Given the description of an element on the screen output the (x, y) to click on. 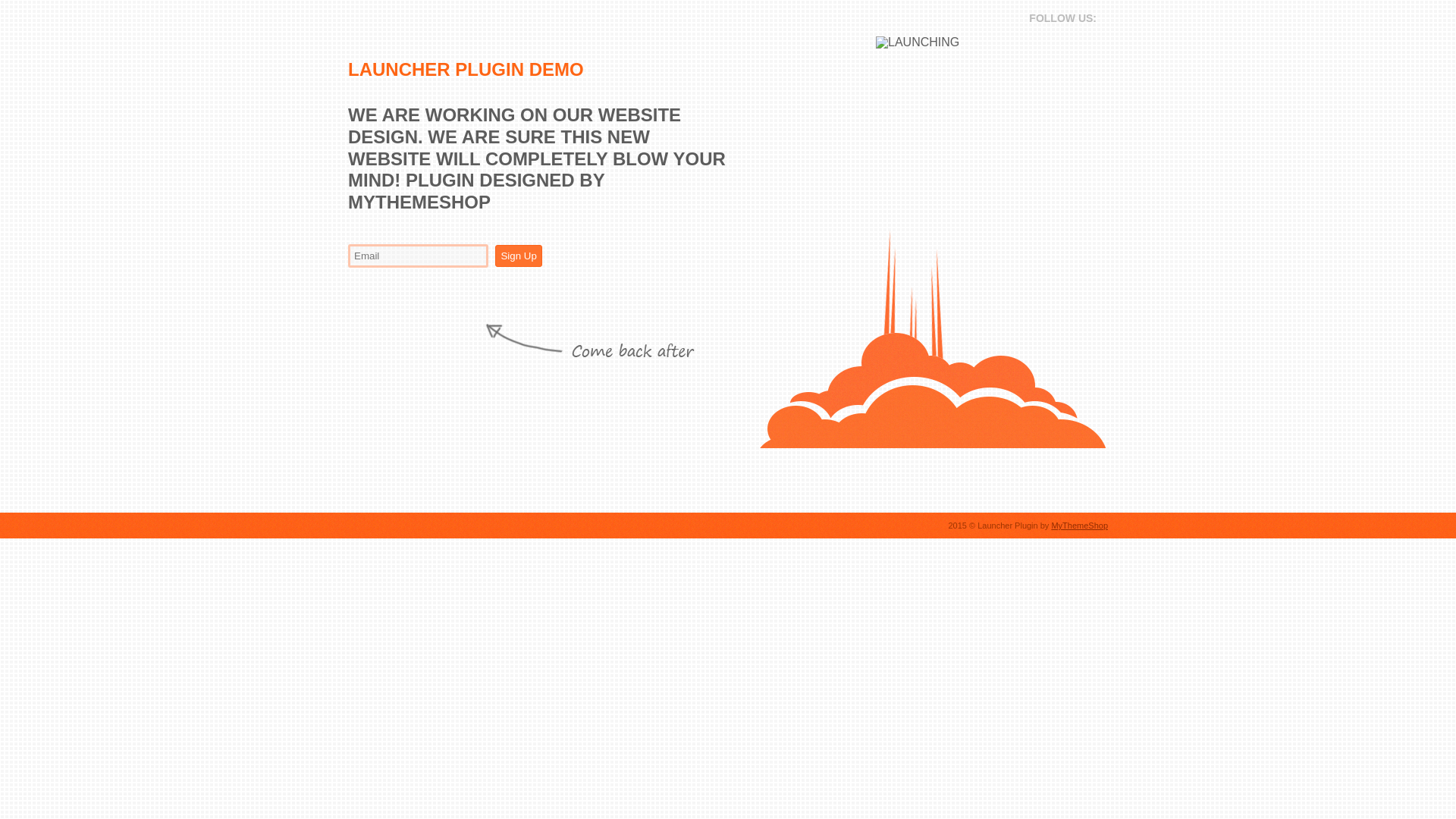
Sign Up (518, 255)
Sign Up (518, 255)
MyThemeShop (1079, 524)
